Given the description of an element on the screen output the (x, y) to click on. 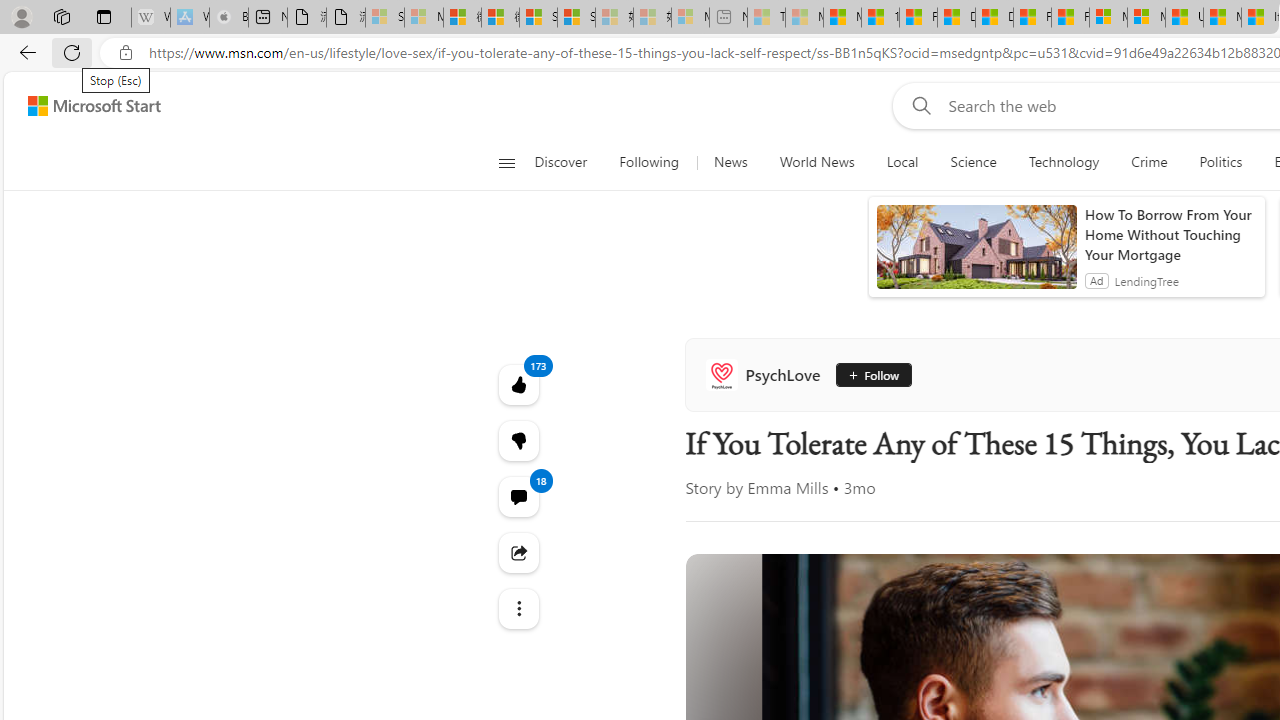
Food and Drink - MSN (917, 17)
